Given the description of an element on the screen output the (x, y) to click on. 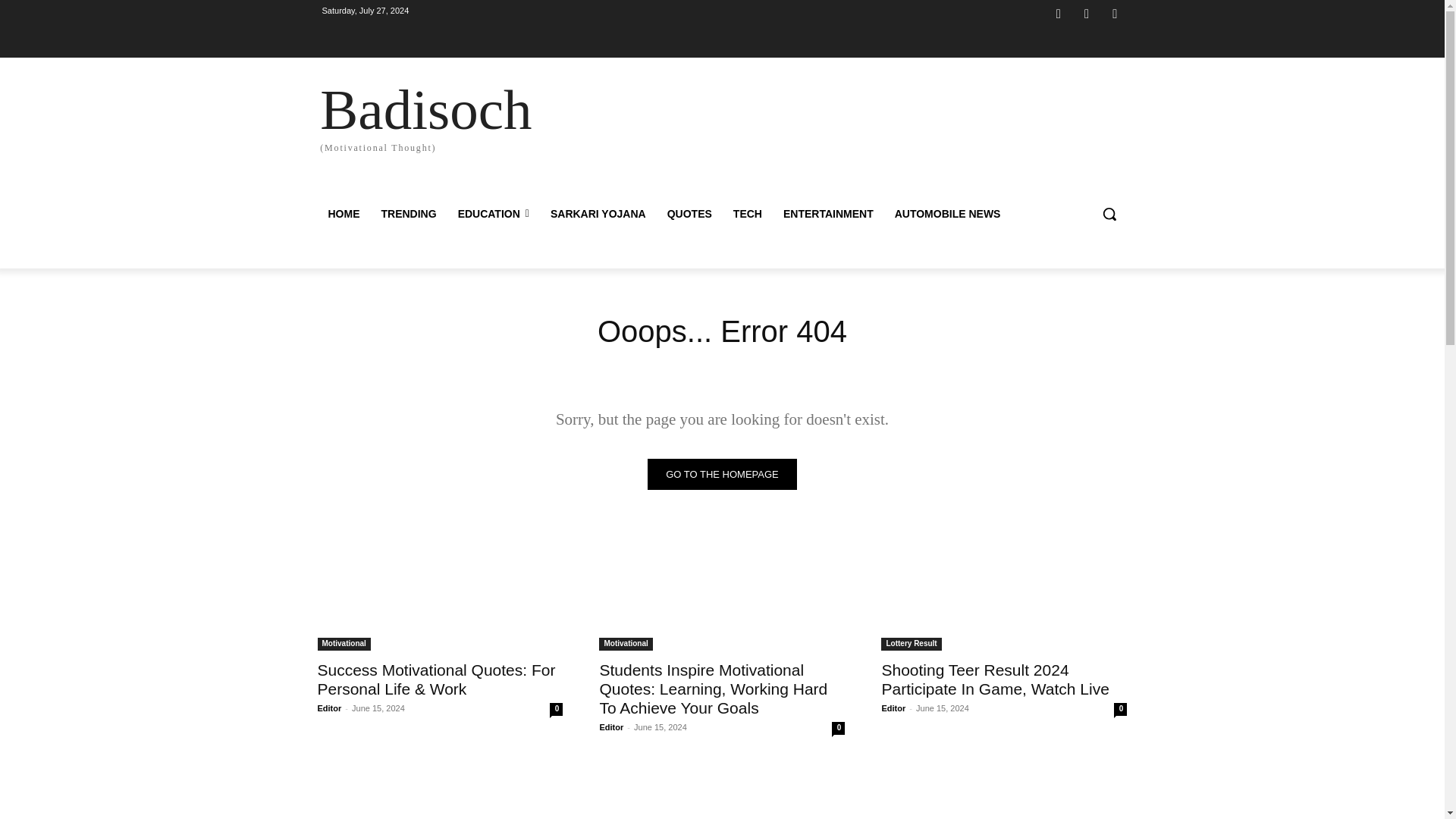
Telegram (1086, 13)
Shooting Teer Result 2024 Participate In Game, Watch Live (994, 678)
QUOTES (689, 213)
Go to the homepage (721, 473)
GO TO THE HOMEPAGE (721, 473)
AUTOMOBILE NEWS (947, 213)
HOME (343, 213)
TRENDING (407, 213)
Facebook (1058, 13)
TECH (747, 213)
ENTERTAINMENT (828, 213)
